Given the description of an element on the screen output the (x, y) to click on. 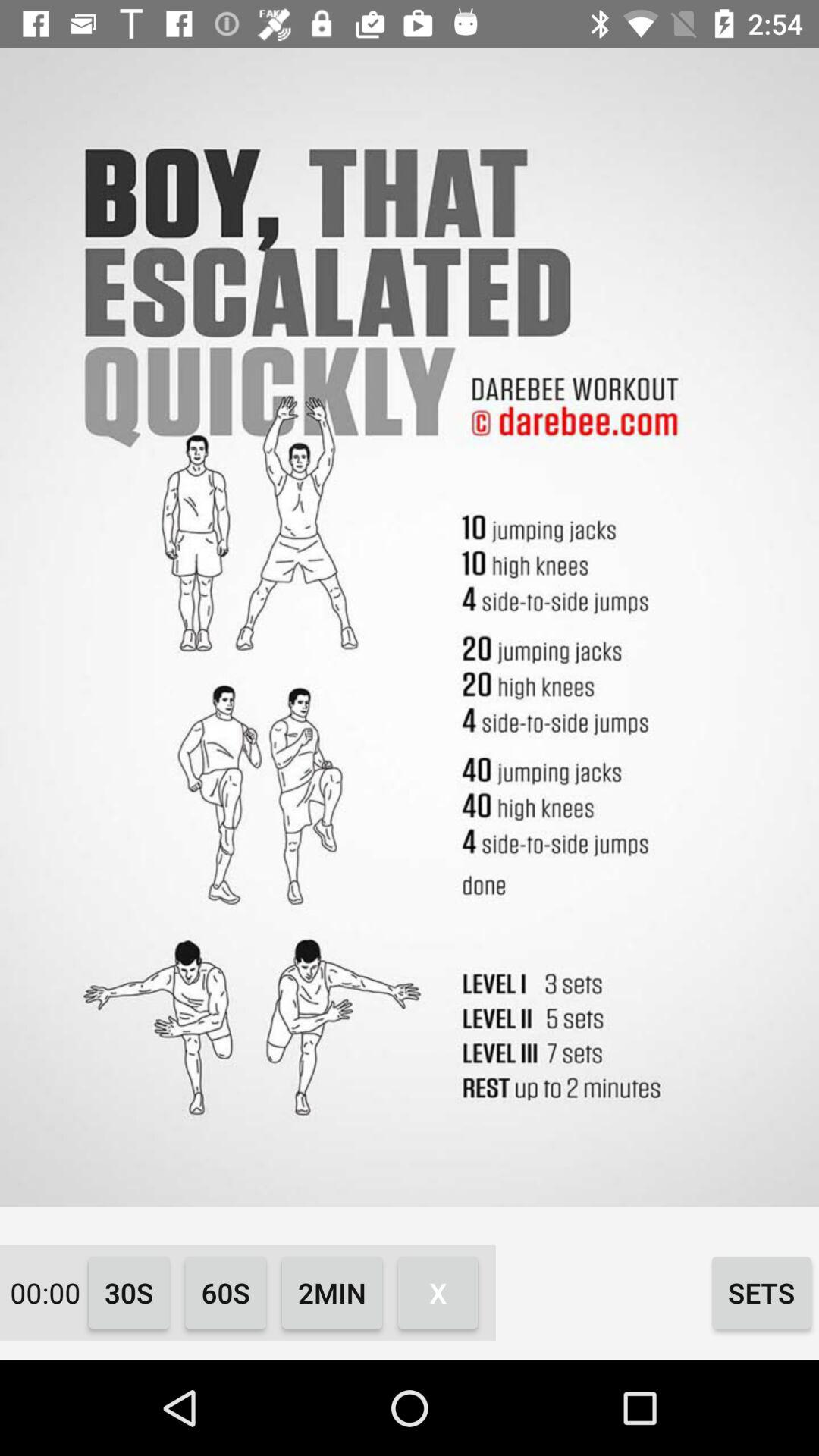
click the sets (761, 1292)
